Given the description of an element on the screen output the (x, y) to click on. 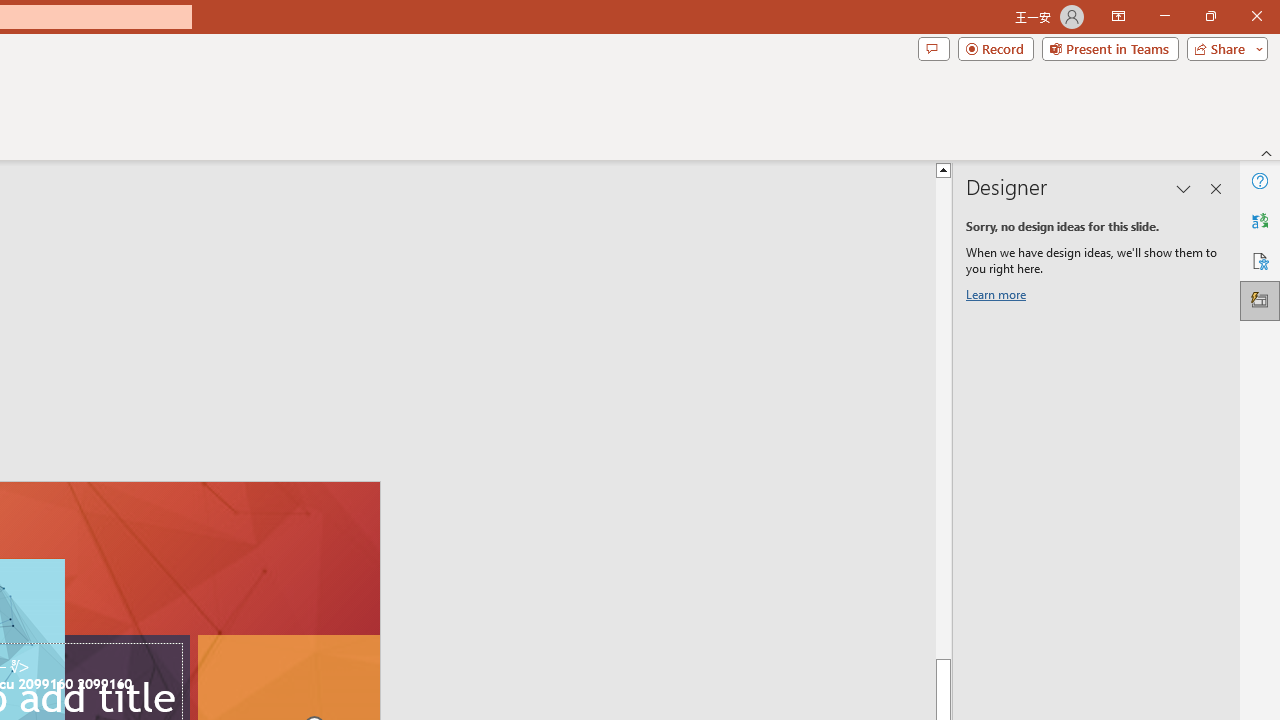
Share (1223, 48)
Help (1260, 180)
Collapse the Ribbon (1267, 152)
Learn more (998, 297)
Line up (1230, 169)
Accessibility (1260, 260)
Restore Down (1210, 16)
Record (995, 48)
Close pane (1215, 188)
Translator (1260, 220)
Task Pane Options (1183, 188)
Minimize (1164, 16)
Designer (1260, 300)
Ribbon Display Options (1118, 16)
